Given the description of an element on the screen output the (x, y) to click on. 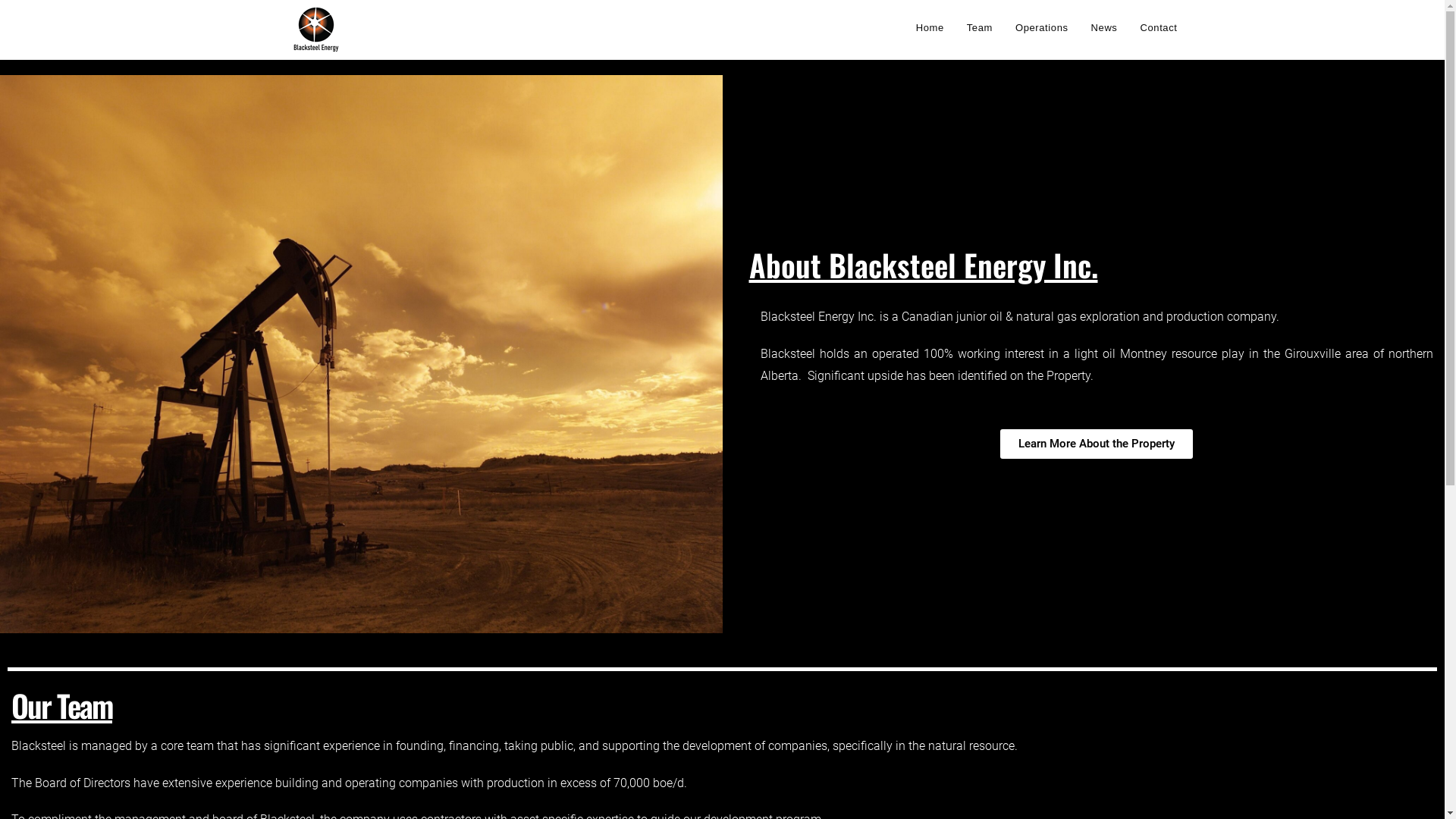
Learn More About the Property Element type: text (1096, 443)
Team Element type: text (979, 28)
News Element type: text (1104, 28)
Contact Element type: text (1158, 28)
Home Element type: text (929, 28)
Operations Element type: text (1041, 28)
